Given the description of an element on the screen output the (x, y) to click on. 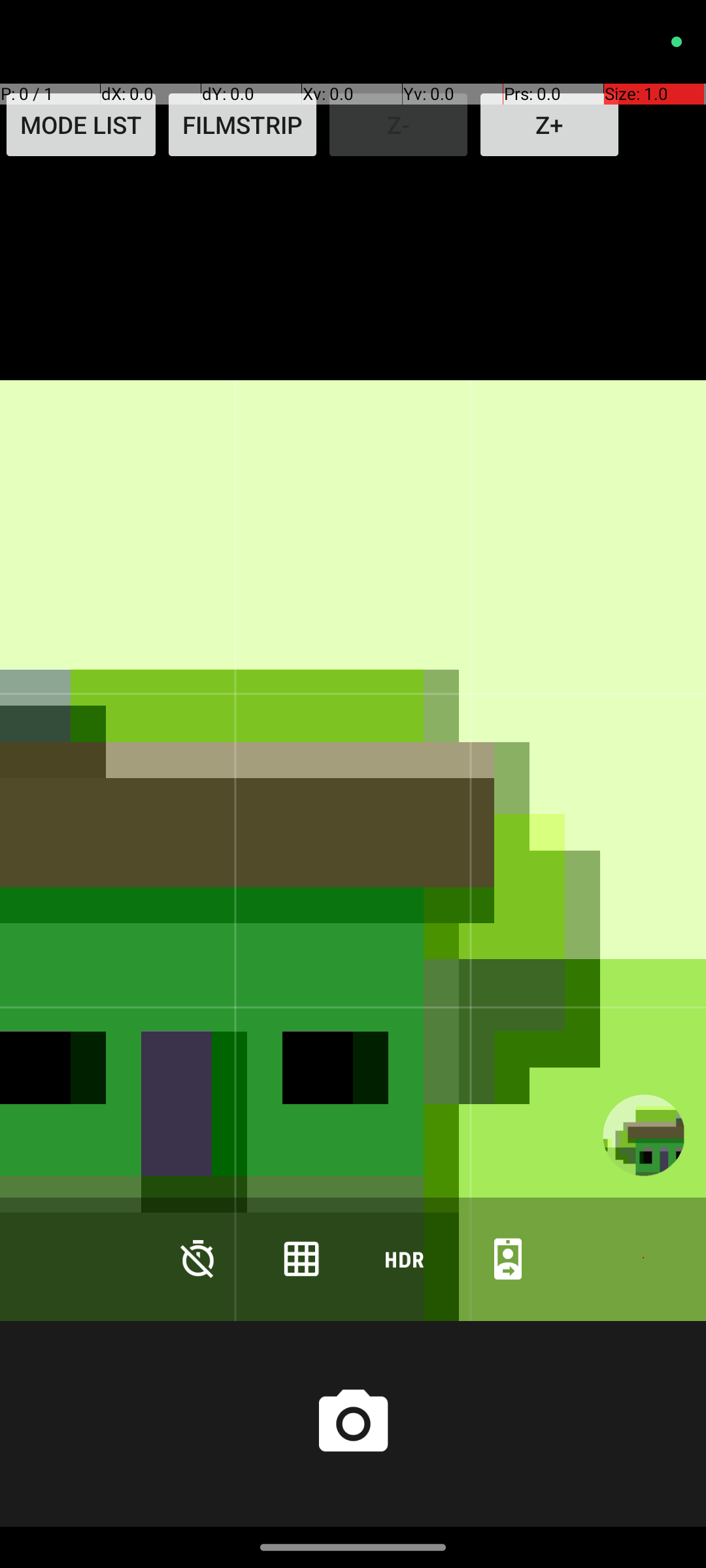
Countdown timer is off Element type: android.widget.ImageButton (197, 1258)
Grid lines on Element type: android.widget.ImageButton (301, 1258)
HDR on Element type: android.widget.ImageButton (404, 1258)
Front camera Element type: android.widget.ImageButton (507, 1258)
